Given the description of an element on the screen output the (x, y) to click on. 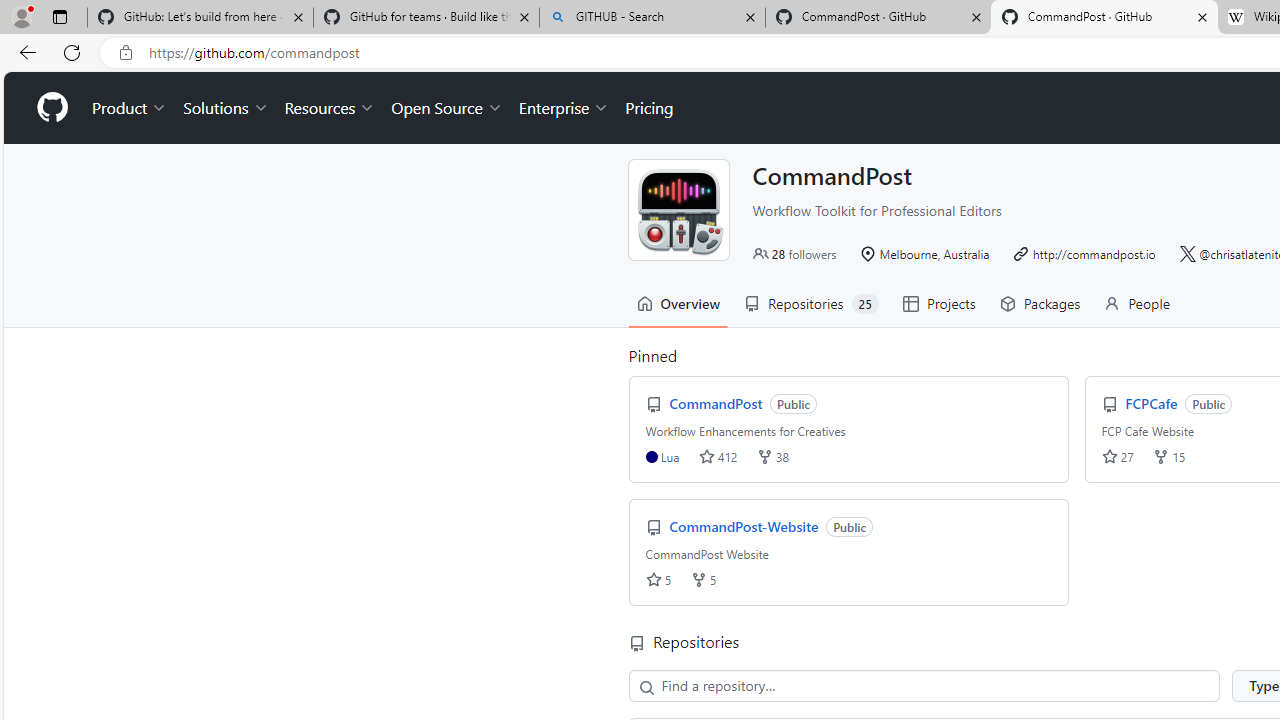
Melbourne, Australia (924, 254)
People (1136, 303)
GITHUB - Search (652, 17)
Solutions (225, 107)
28 followers (794, 254)
Packages (1039, 303)
stars 412 (717, 456)
Repositories25 (811, 303)
Projects (938, 303)
stars 27 (1117, 456)
X (1186, 254)
Product (130, 107)
Open Source (446, 107)
